Given the description of an element on the screen output the (x, y) to click on. 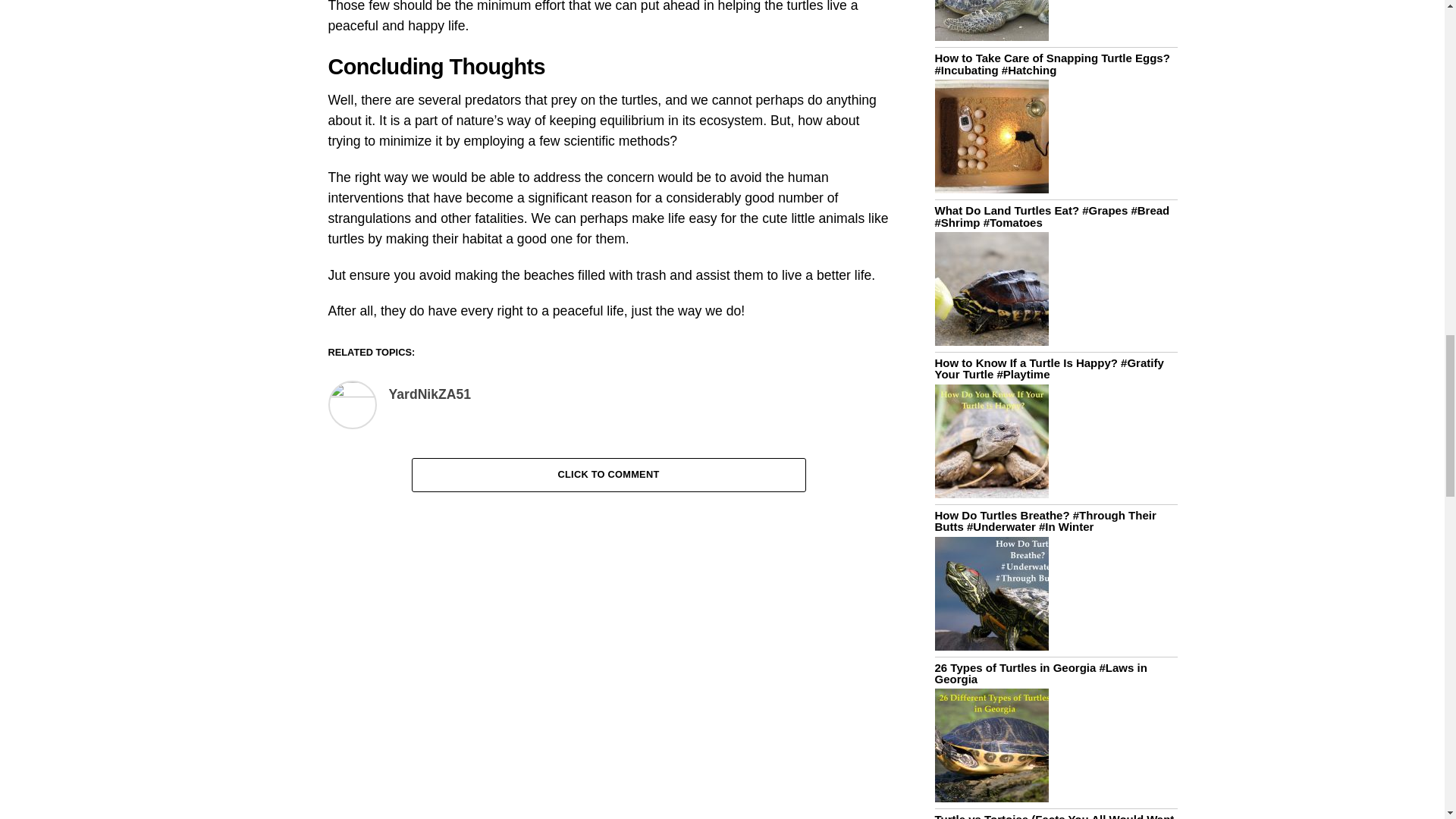
Posts by YardNikZA51 (429, 394)
YardNikZA51 (429, 394)
